Given the description of an element on the screen output the (x, y) to click on. 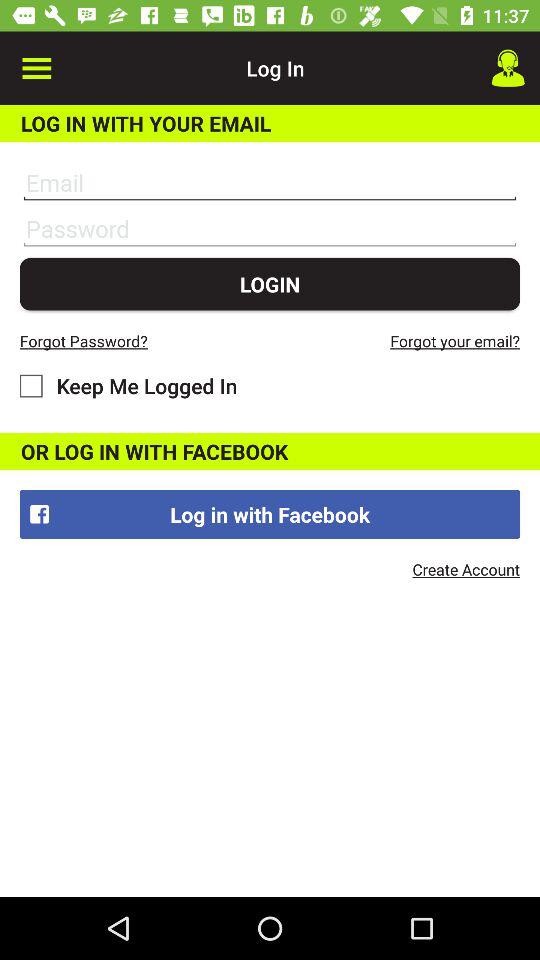
choose the icon above the log in with icon (508, 67)
